Given the description of an element on the screen output the (x, y) to click on. 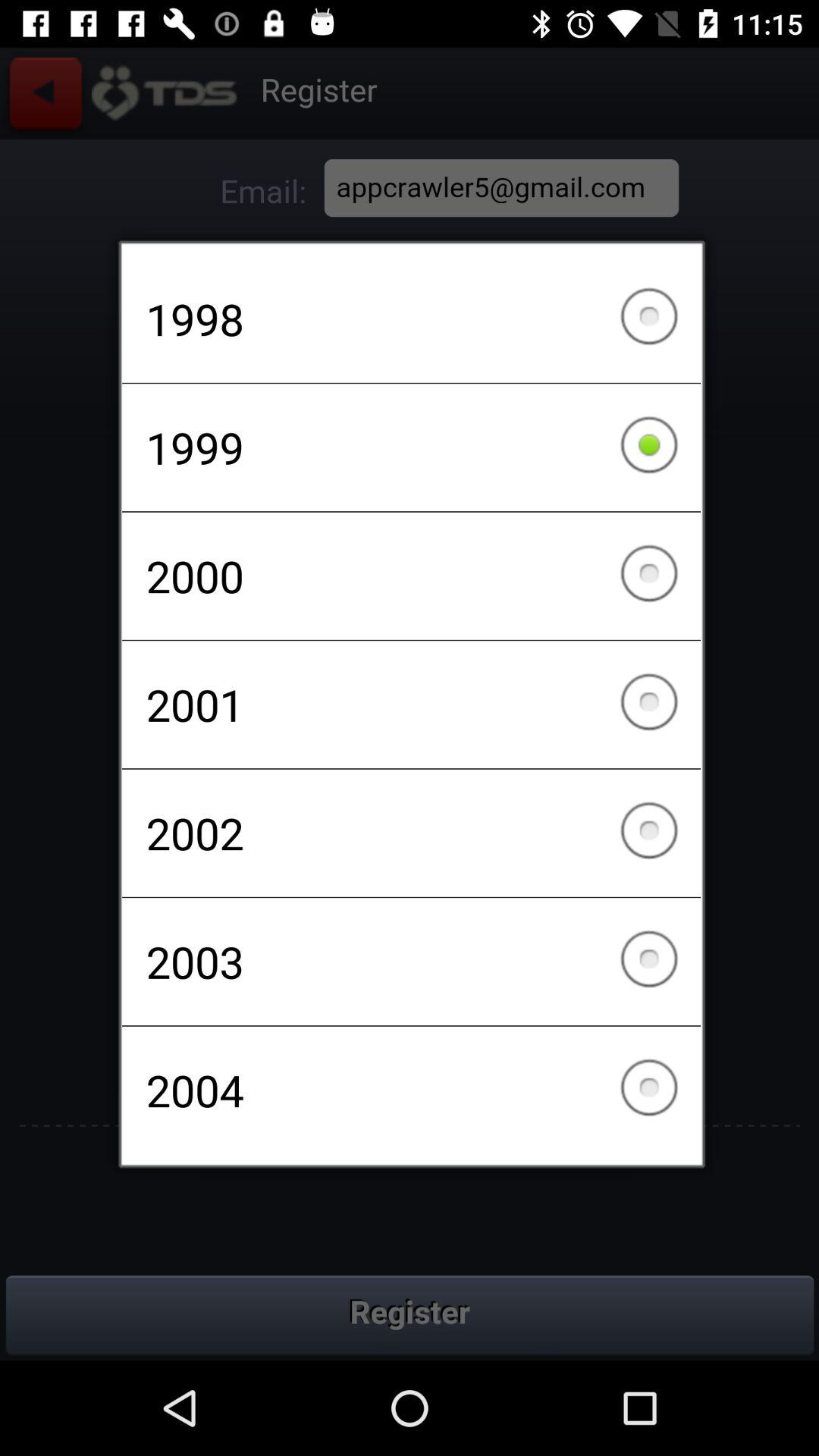
select 2003 item (411, 961)
